Given the description of an element on the screen output the (x, y) to click on. 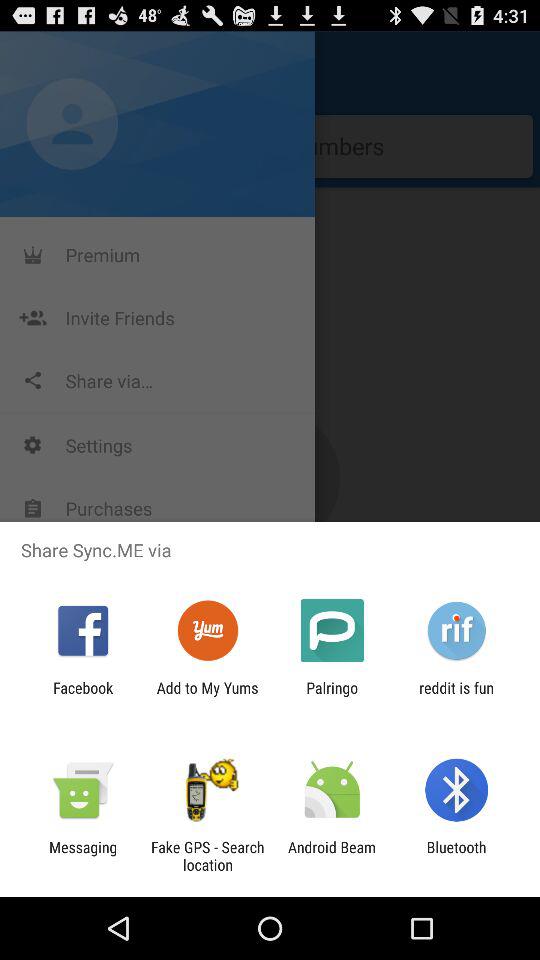
turn off the facebook (83, 696)
